Given the description of an element on the screen output the (x, y) to click on. 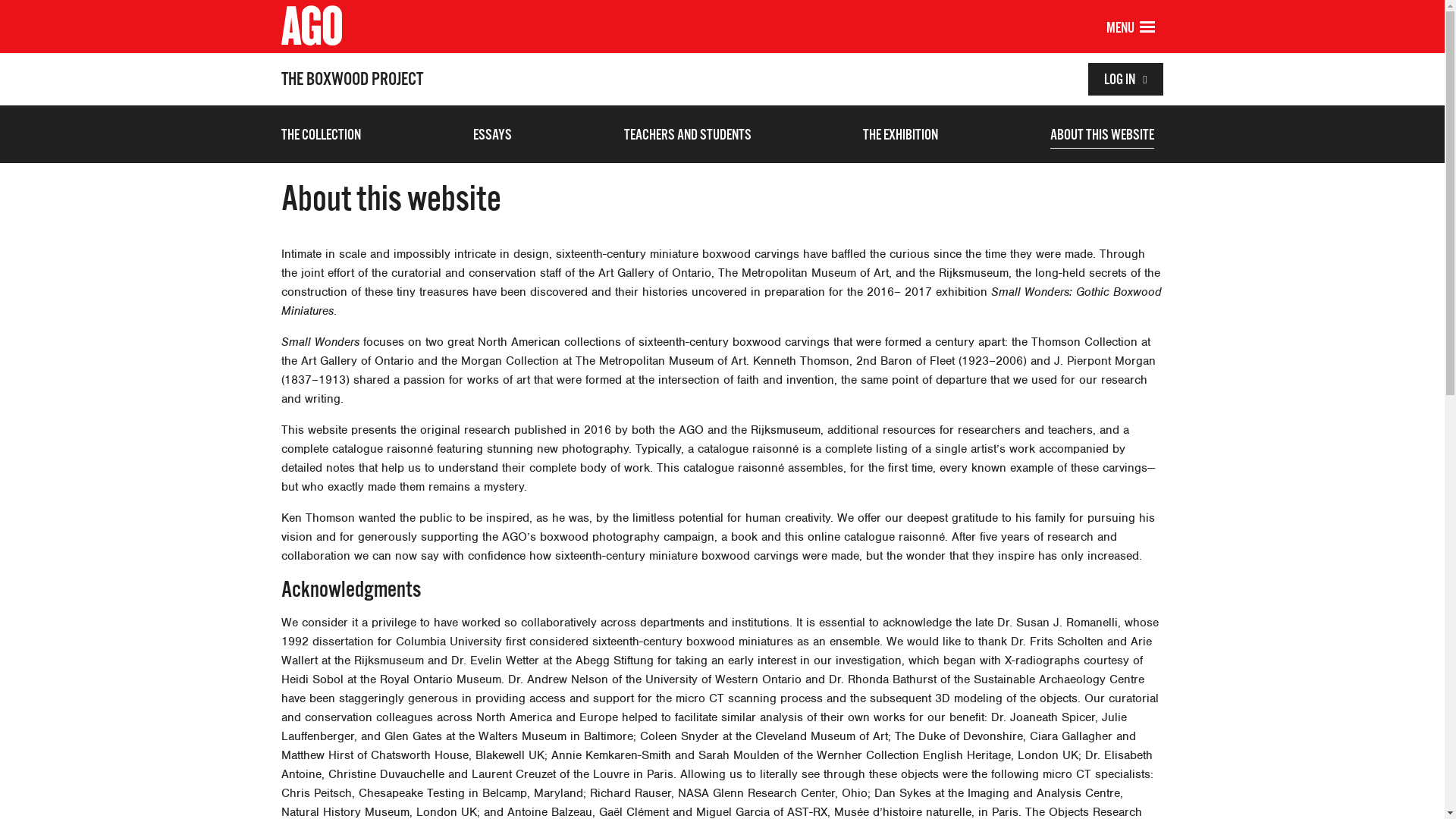
THE BOXWOOD PROJECT Element type: text (352, 78)
THE COLLECTION Element type: text (320, 137)
TEACHERS AND STUDENTS Element type: text (687, 137)
LOG IN Element type: text (1125, 78)
ESSAYS Element type: text (492, 137)
MENU Element type: text (1146, 28)
Skip to main content Element type: text (0, 0)
ABOUT THIS WEBSITE Element type: text (1102, 137)
THE EXHIBITION Element type: text (900, 137)
